Given the description of an element on the screen output the (x, y) to click on. 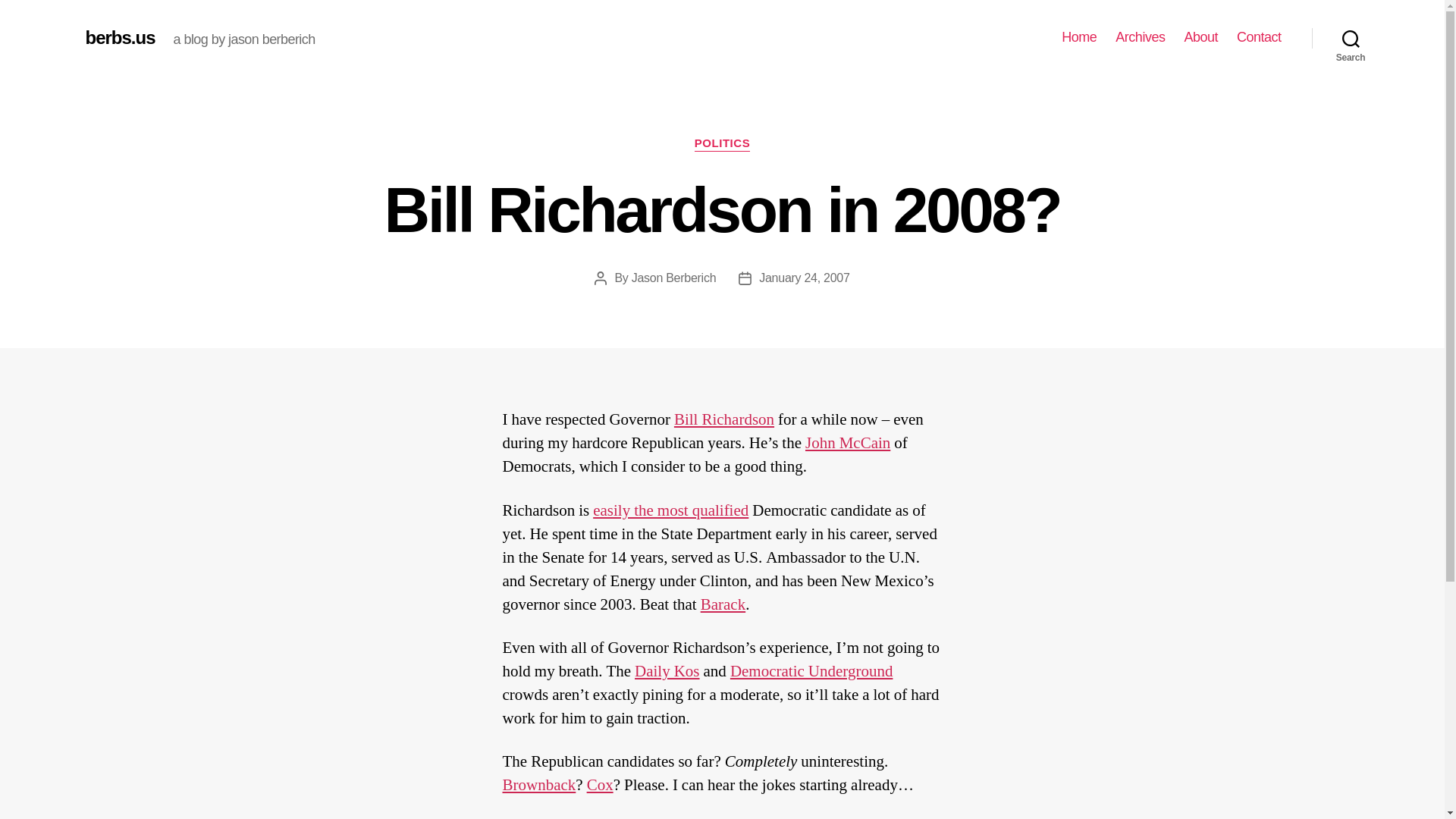
easily the most qualified (670, 510)
Archives (1139, 37)
Daily Kos (667, 670)
Contact (1258, 37)
January 24, 2007 (803, 277)
Jason Berberich (673, 277)
POLITICS (722, 143)
berbs.us (119, 37)
Search (1350, 37)
Brownback (538, 784)
